Given the description of an element on the screen output the (x, y) to click on. 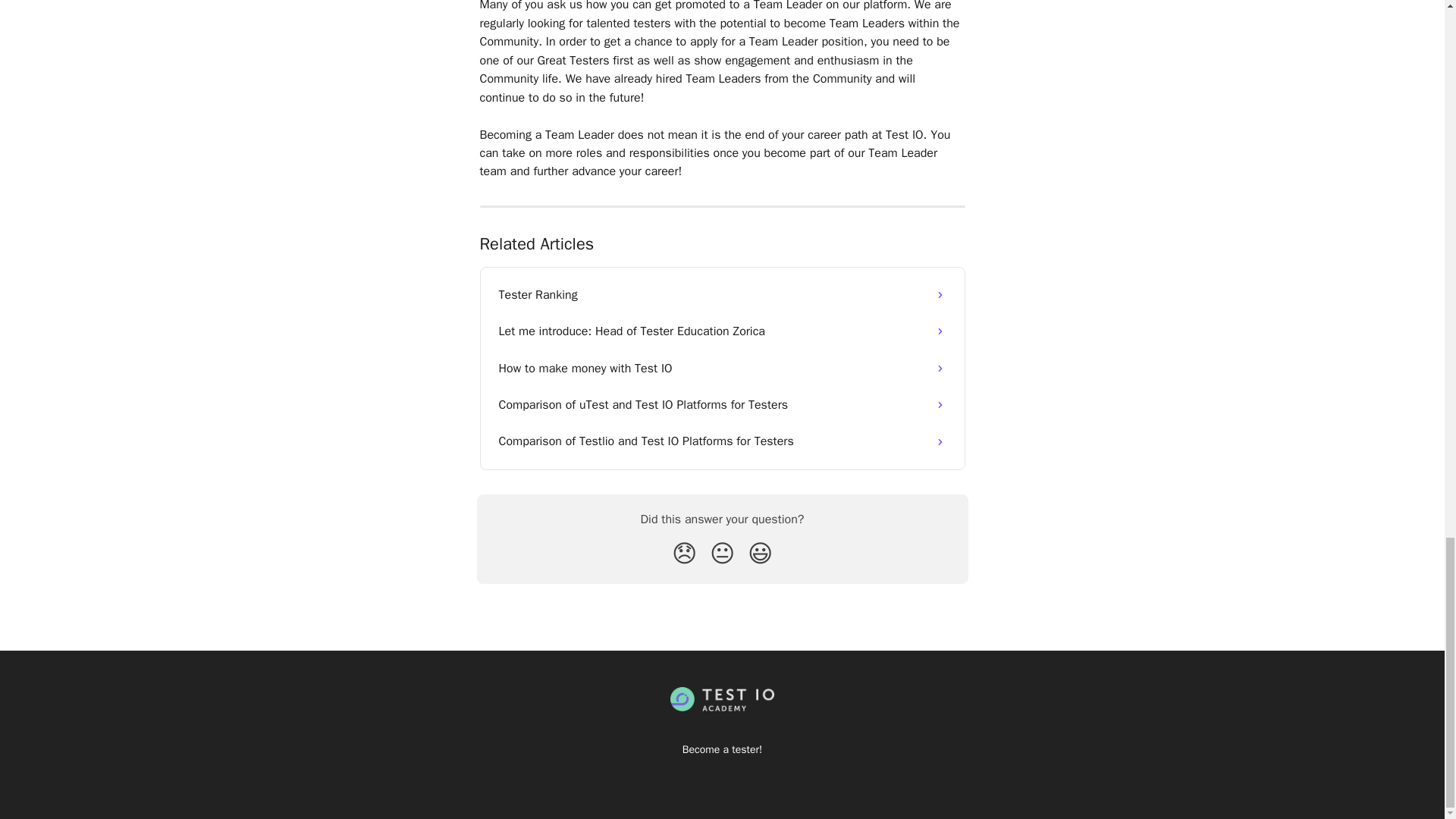
Become a tester! (721, 748)
How to make money with Test IO (722, 368)
Tester Ranking (722, 294)
Comparison of uTest and Test IO Platforms for Testers (722, 404)
Comparison of Testlio and Test IO Platforms for Testers (722, 441)
Let me introduce: Head of Tester Education Zorica (722, 330)
